Given the description of an element on the screen output the (x, y) to click on. 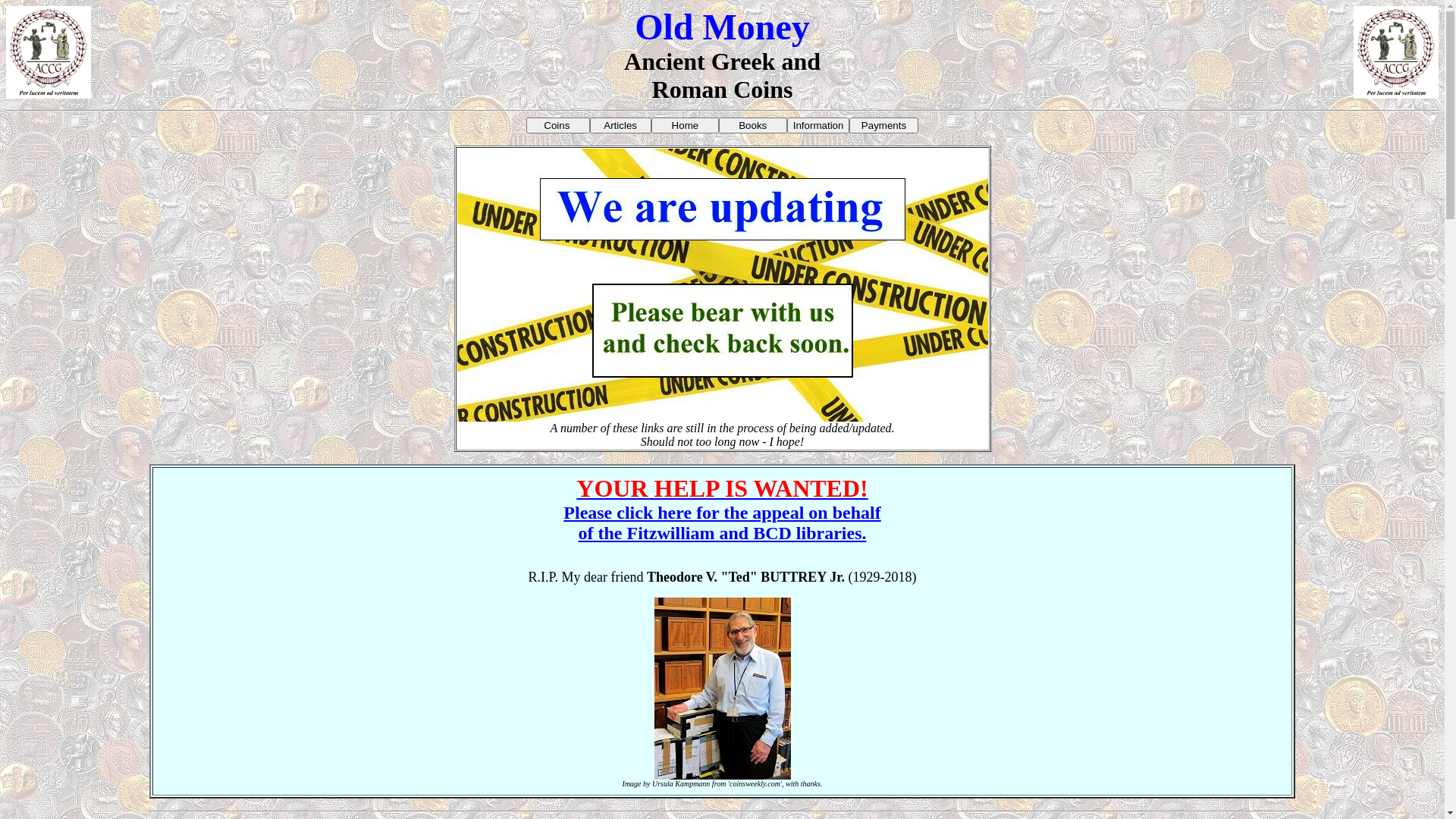
Information Element type: text (818, 125)
